Given the description of an element on the screen output the (x, y) to click on. 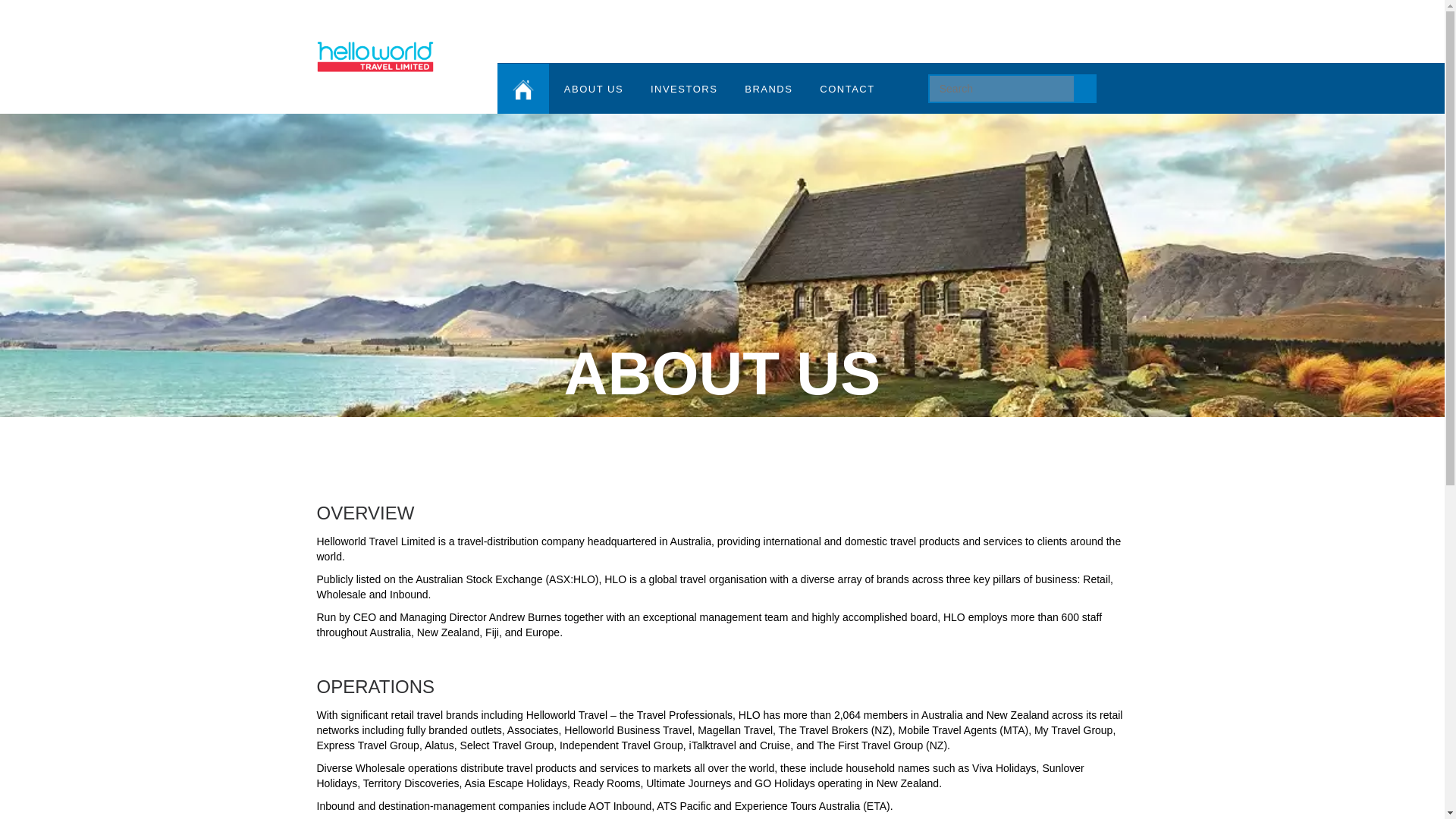
CONTACT (847, 89)
ABOUT US (593, 89)
INVESTORS (683, 89)
BRANDS (768, 89)
